Given the description of an element on the screen output the (x, y) to click on. 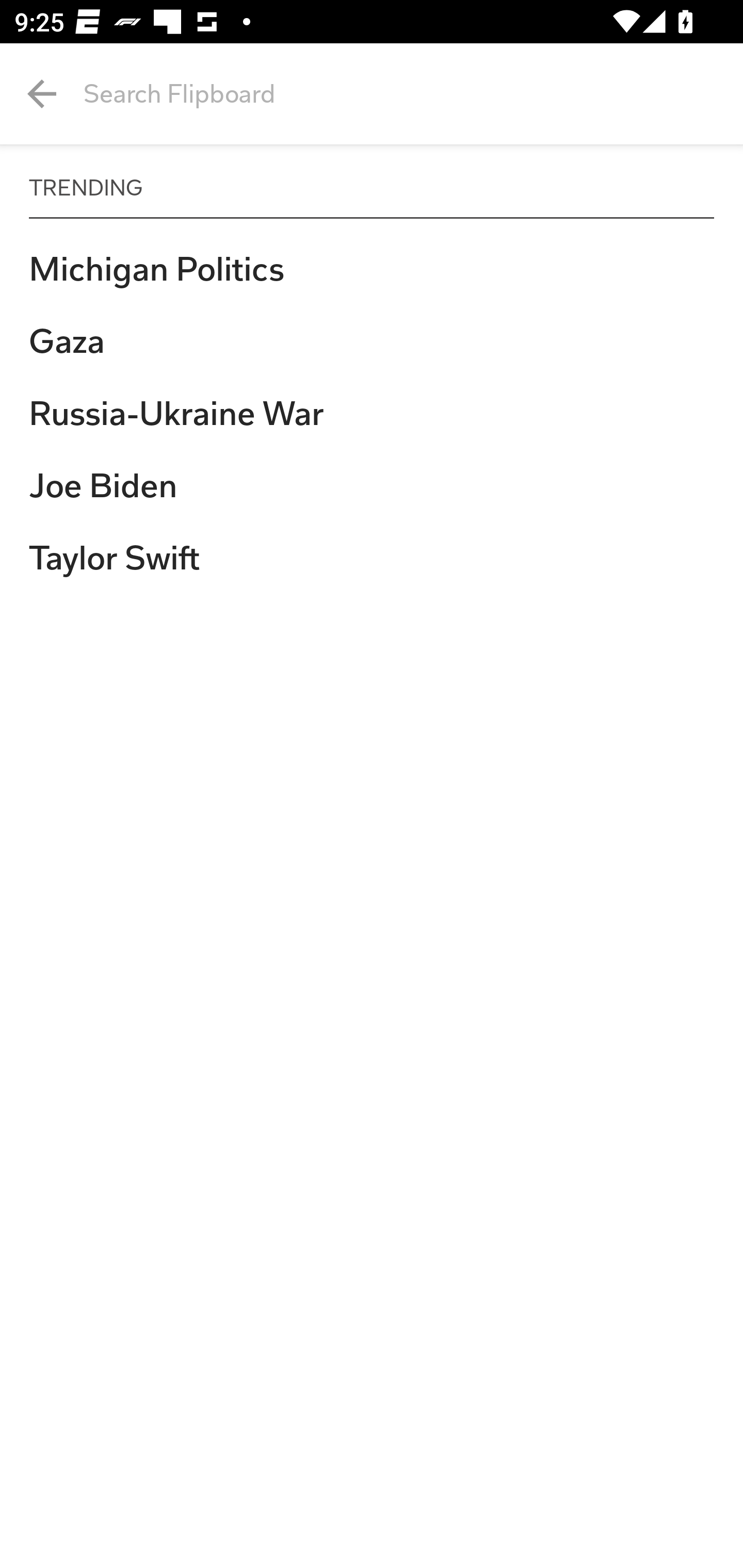
Search Flipboard (413, 93)
Michigan Politics (371, 269)
Gaza (371, 341)
Russia-Ukraine War (371, 413)
Joe Biden (371, 486)
Taylor Swift (371, 558)
